Given the description of an element on the screen output the (x, y) to click on. 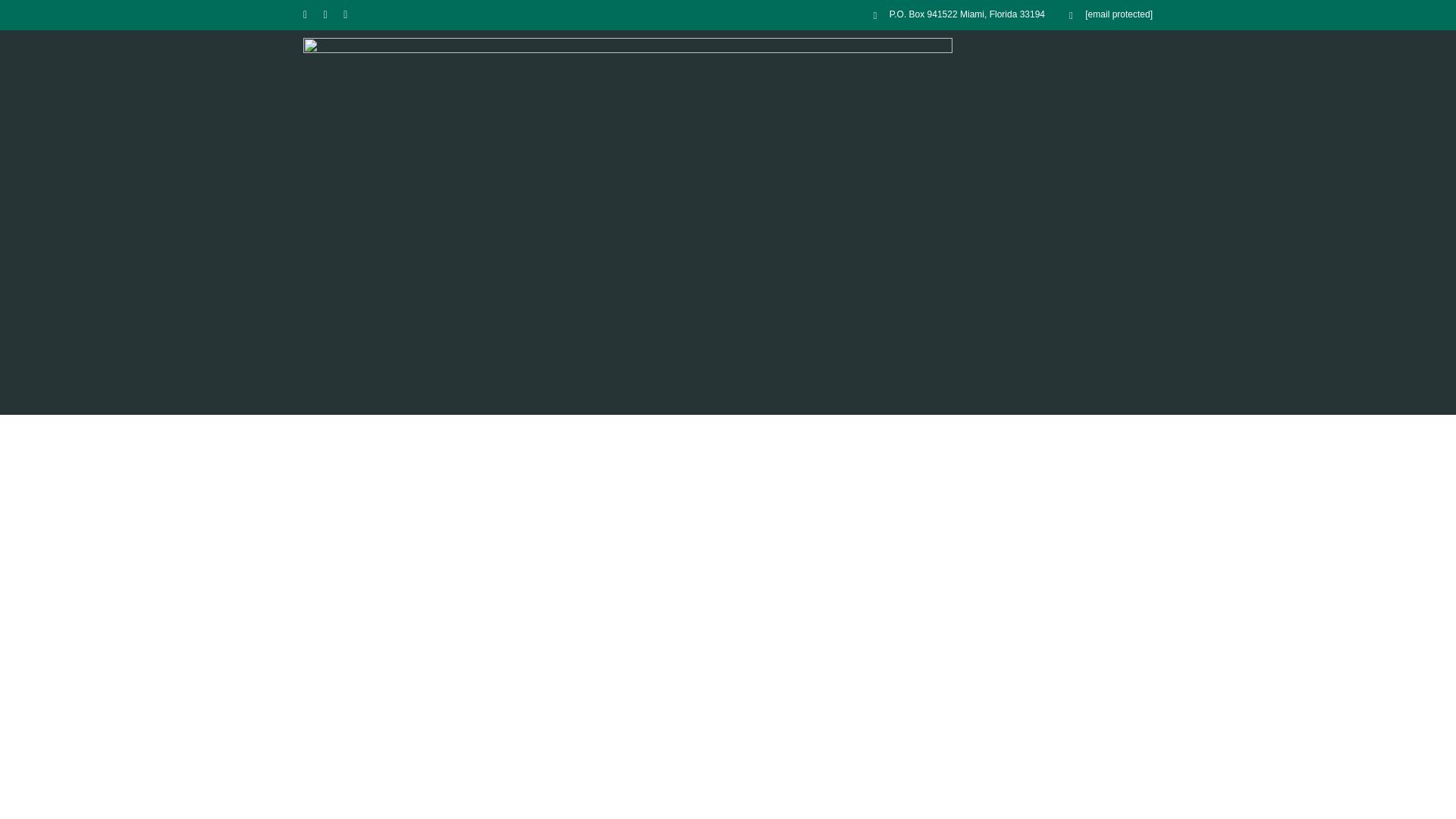
P.O. Box 941522 Miami, Florida 33194 (959, 14)
